Given the description of an element on the screen output the (x, y) to click on. 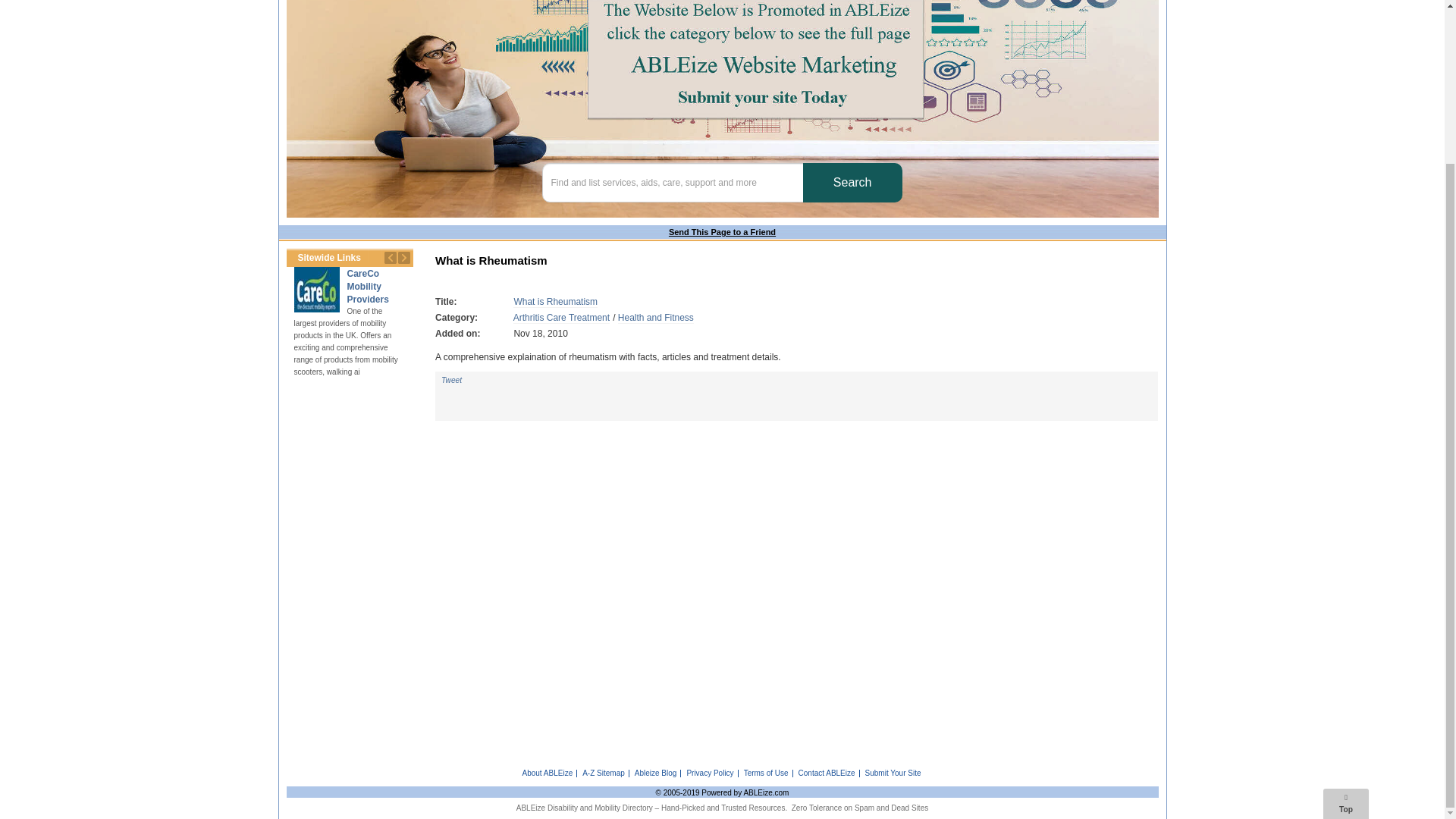
Search (852, 182)
CareCo Mobility Providers (367, 286)
CareCo Mobility Providers (316, 289)
Search (852, 182)
Health and Fitness (655, 317)
Previous (389, 257)
Arthritis Care Treatment (561, 317)
Next (404, 257)
Search (852, 182)
What is Rheumatism (554, 301)
